Given the description of an element on the screen output the (x, y) to click on. 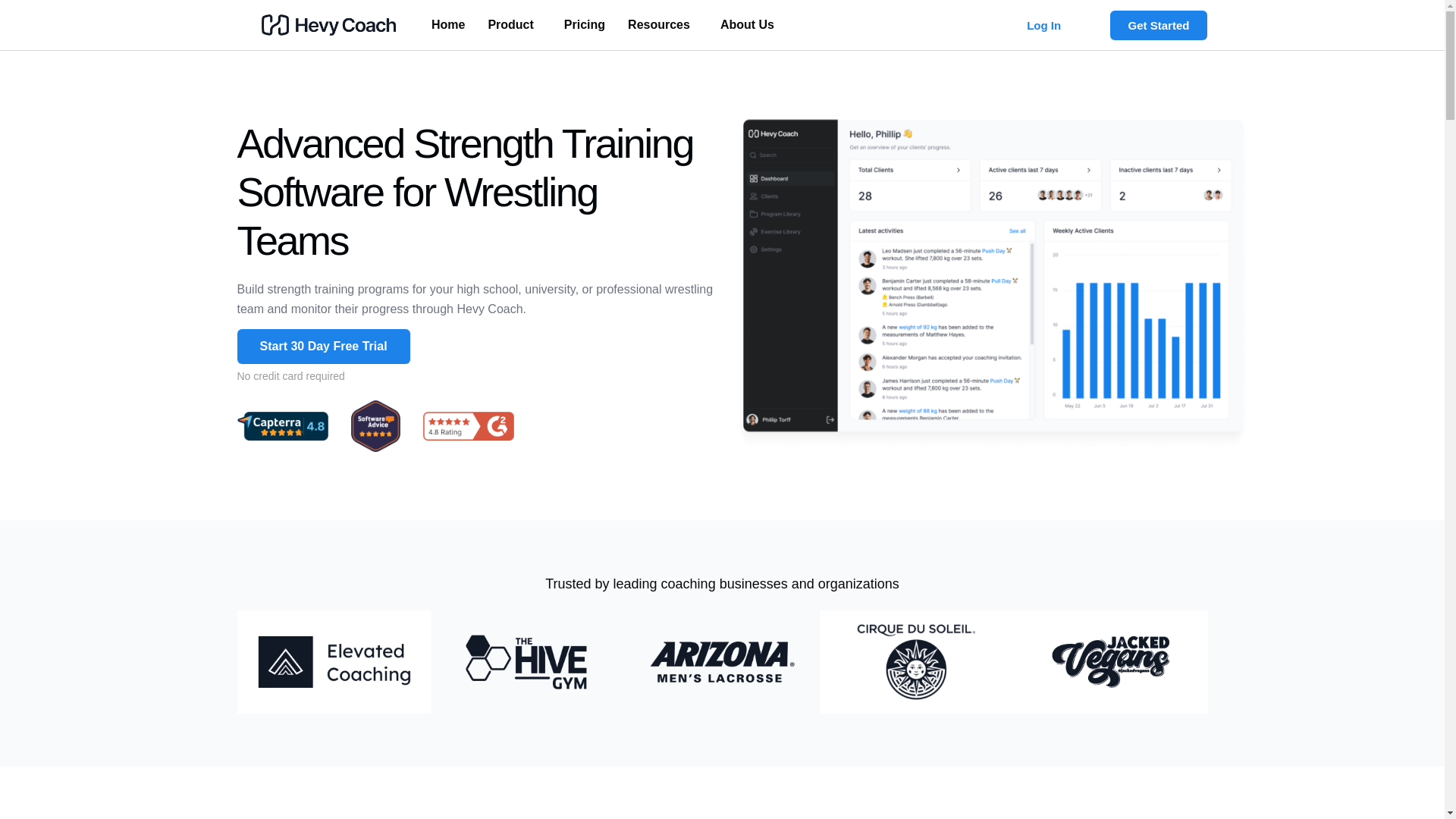
Pricing (584, 24)
About Us (747, 24)
Log In (1043, 24)
Resources (662, 24)
Home (448, 24)
Product (513, 24)
